Given the description of an element on the screen output the (x, y) to click on. 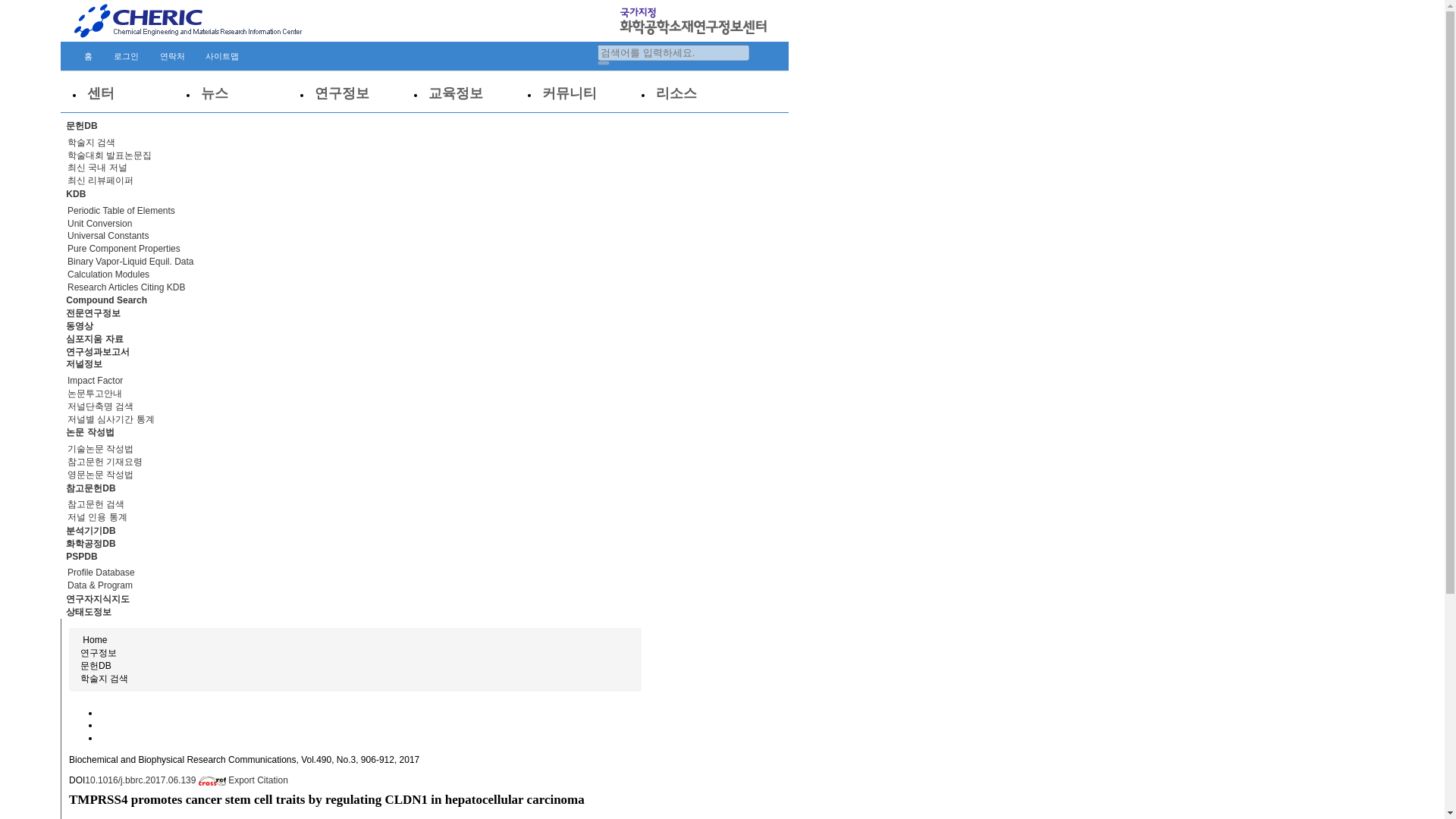
Full Text via CrossRef (156, 779)
